Given the description of an element on the screen output the (x, y) to click on. 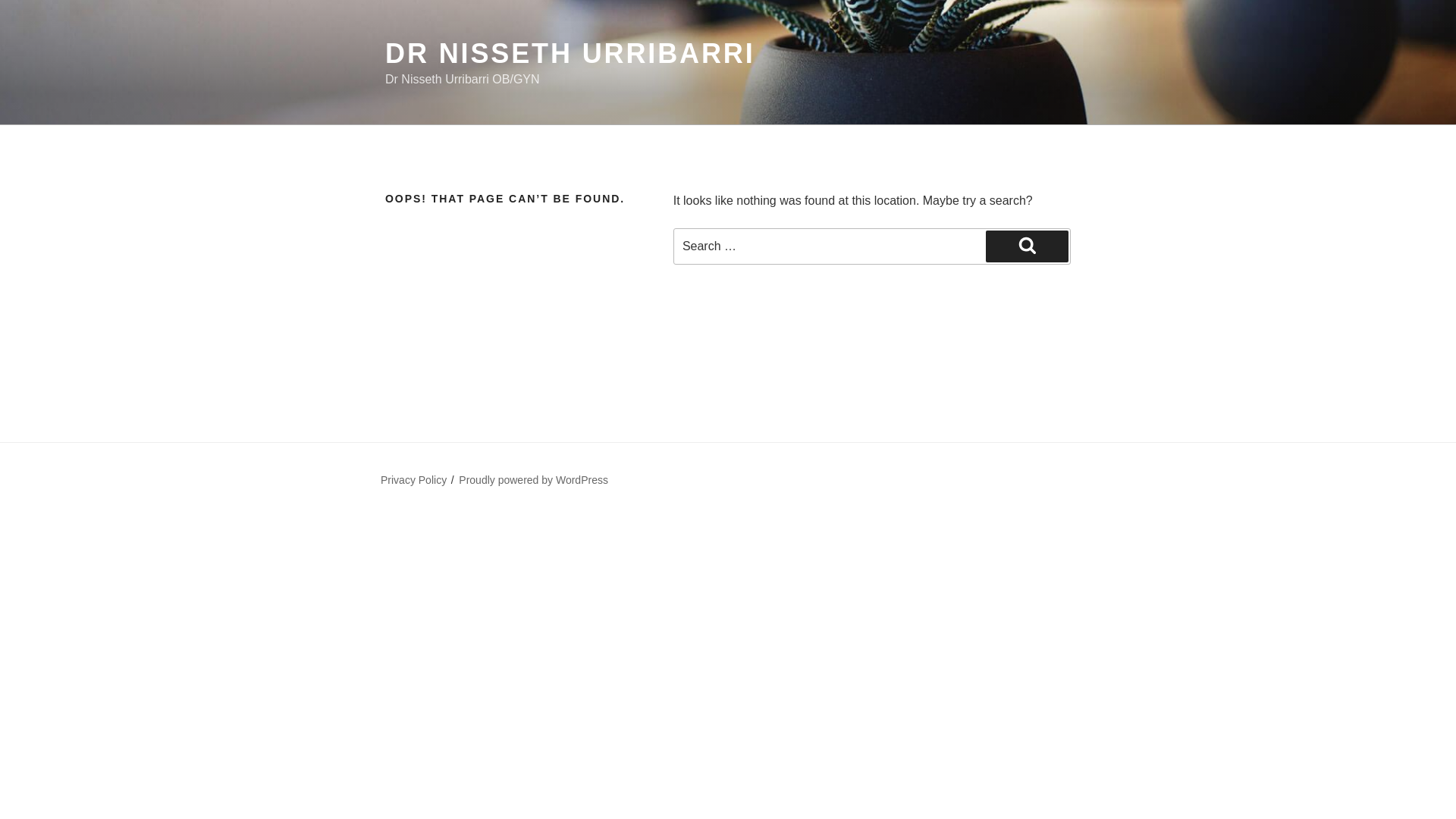
Proudly powered by WordPress (533, 480)
Privacy Policy (413, 480)
DR NISSETH URRIBARRI (570, 52)
Search (1026, 246)
